Given the description of an element on the screen output the (x, y) to click on. 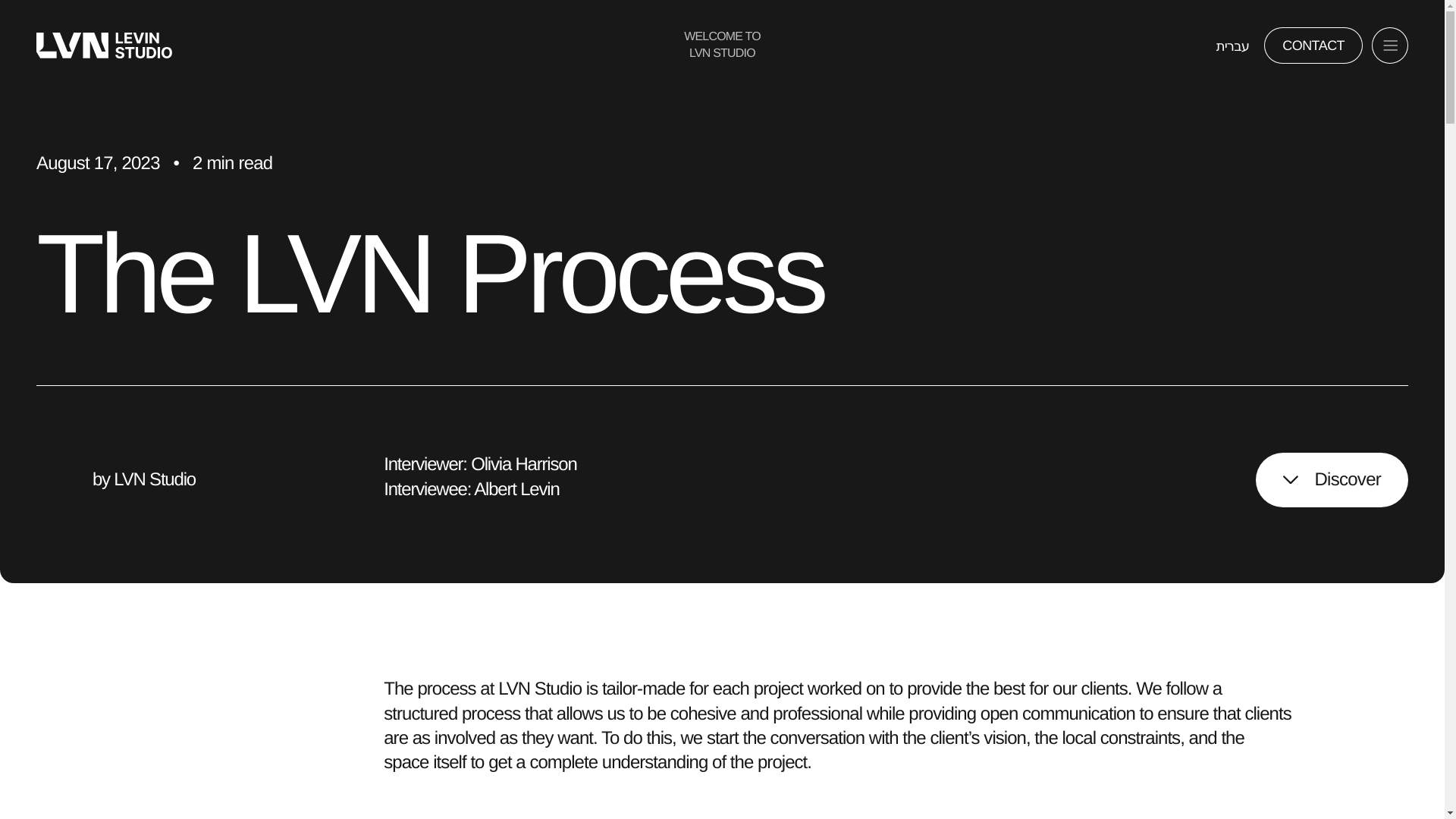
Discover (1331, 479)
